Given the description of an element on the screen output the (x, y) to click on. 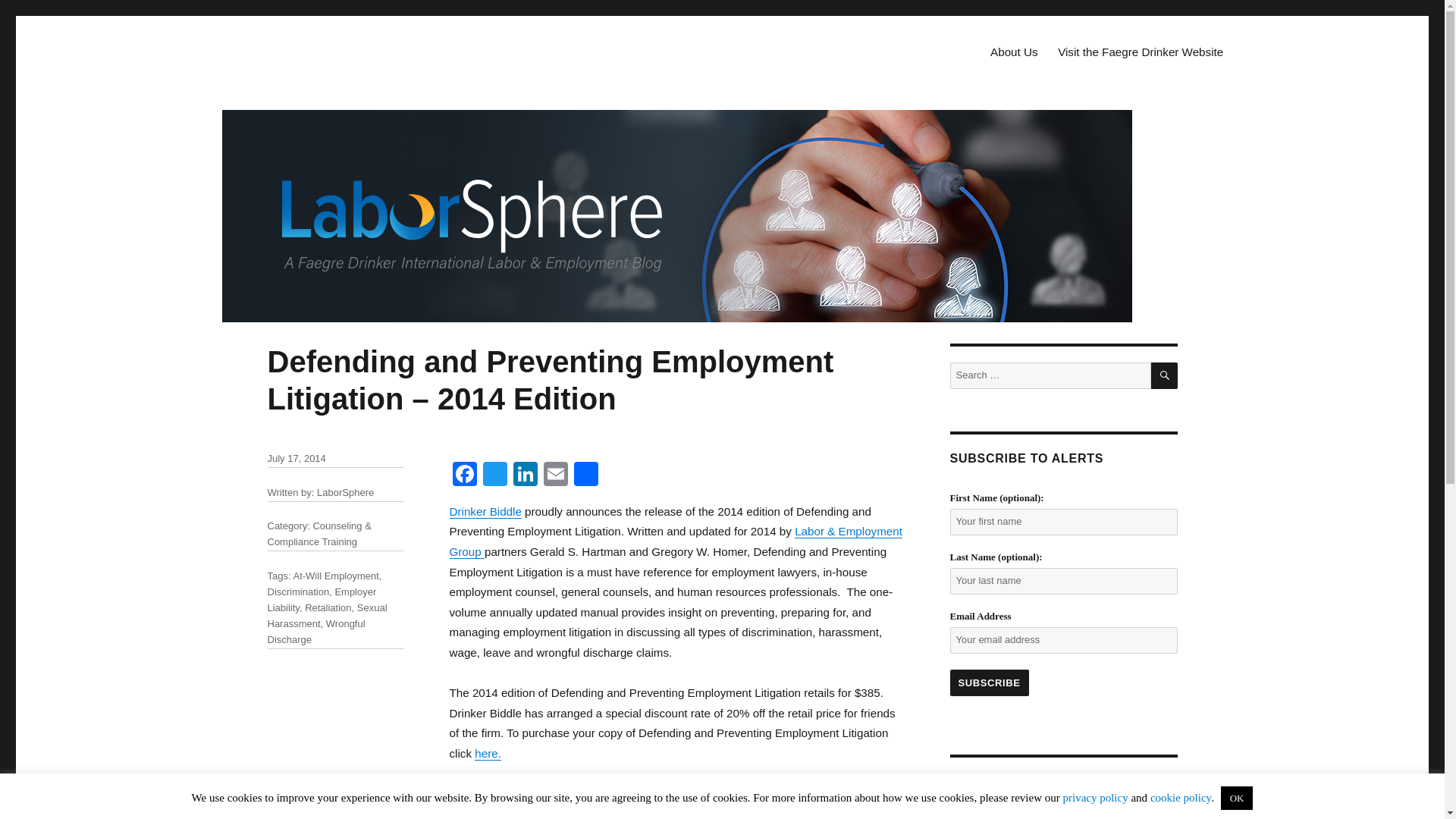
Twitter (494, 475)
Wrongful Discharge (315, 631)
Employer Liability (320, 599)
Visit the Faegre Drinker Website (1140, 51)
Subscribe (988, 682)
SEARCH (1164, 375)
Email (555, 475)
At-Will Employment (335, 575)
Facebook (463, 475)
LaborSphere (345, 491)
cookie policy (1180, 797)
Sexual Harassment (326, 615)
LinkedIn (524, 475)
Share (584, 475)
Twitter (494, 475)
